Given the description of an element on the screen output the (x, y) to click on. 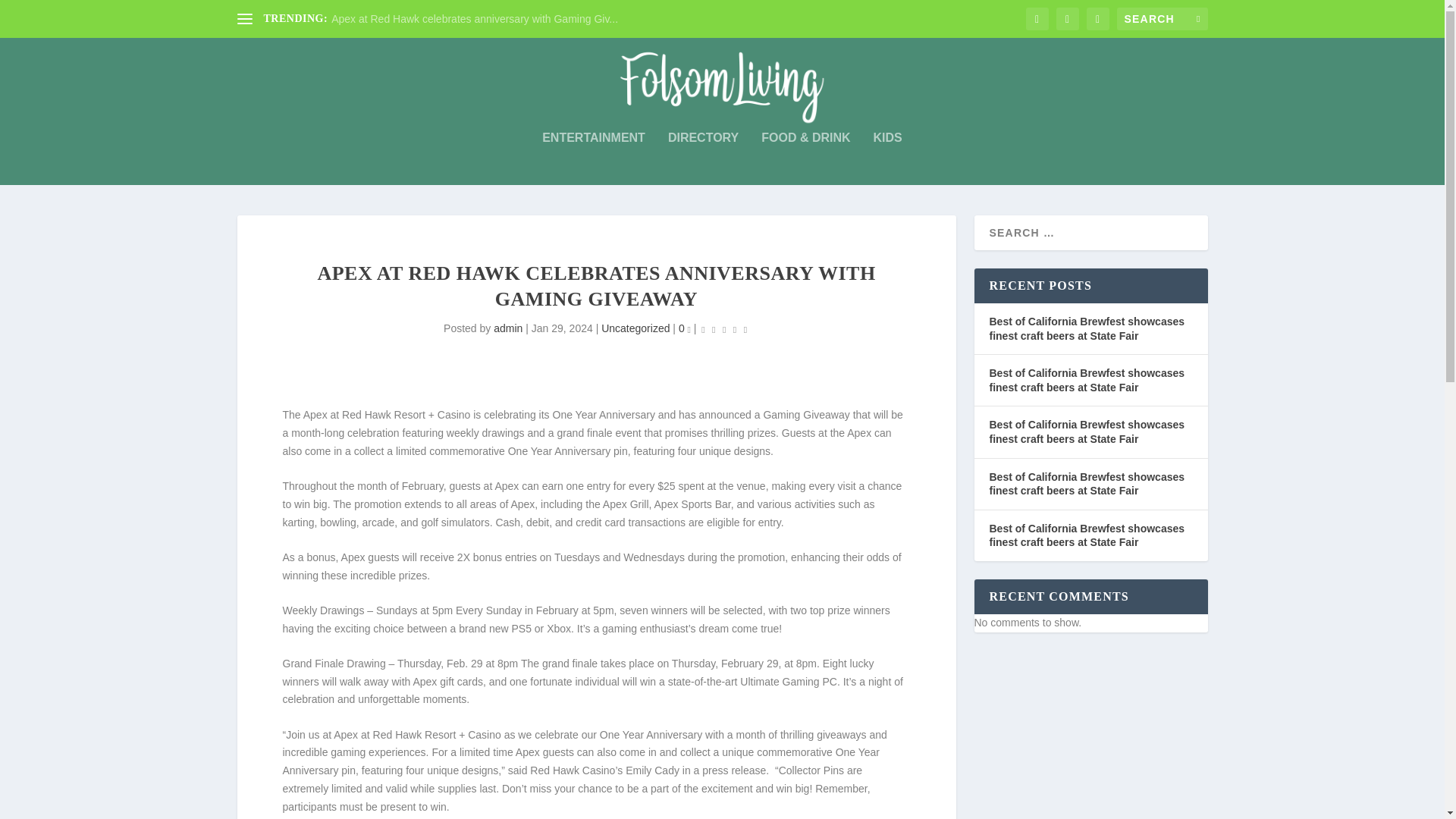
Apex at Red Hawk celebrates anniversary with Gaming Giv... (474, 19)
0 (684, 328)
Rating: 0.50 (723, 329)
ENTERTAINMENT (593, 158)
Uncategorized (635, 328)
admin (507, 328)
DIRECTORY (703, 158)
Posts by admin (507, 328)
Search for: (1161, 18)
